Given the description of an element on the screen output the (x, y) to click on. 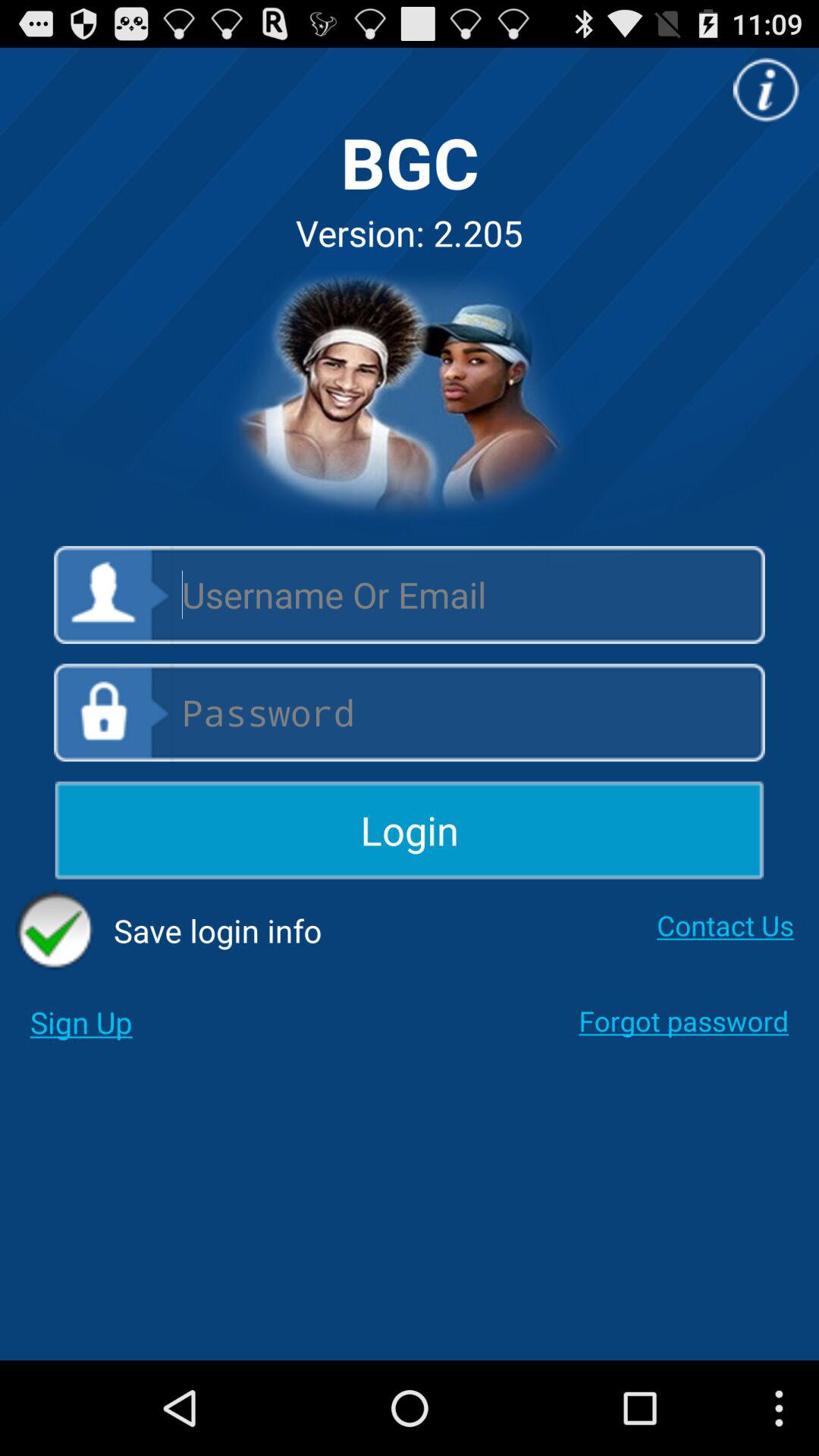
choose sign up icon (81, 1022)
